Given the description of an element on the screen output the (x, y) to click on. 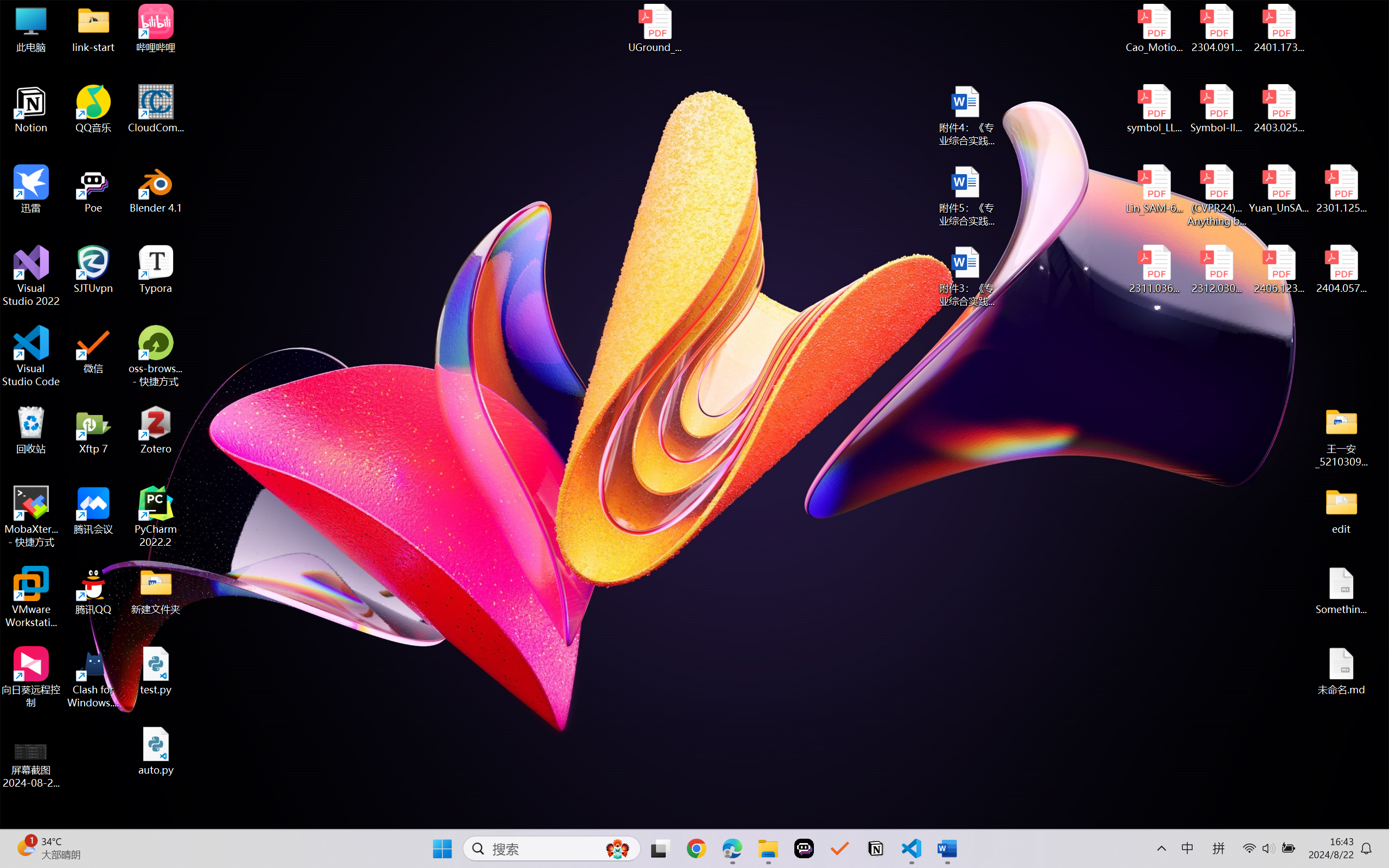
symbol_LLM.pdf (1154, 109)
edit (1340, 510)
Google Chrome (696, 848)
2404.05719v1.pdf (1340, 269)
Symbol-llm-v2.pdf (1216, 109)
